Given the description of an element on the screen output the (x, y) to click on. 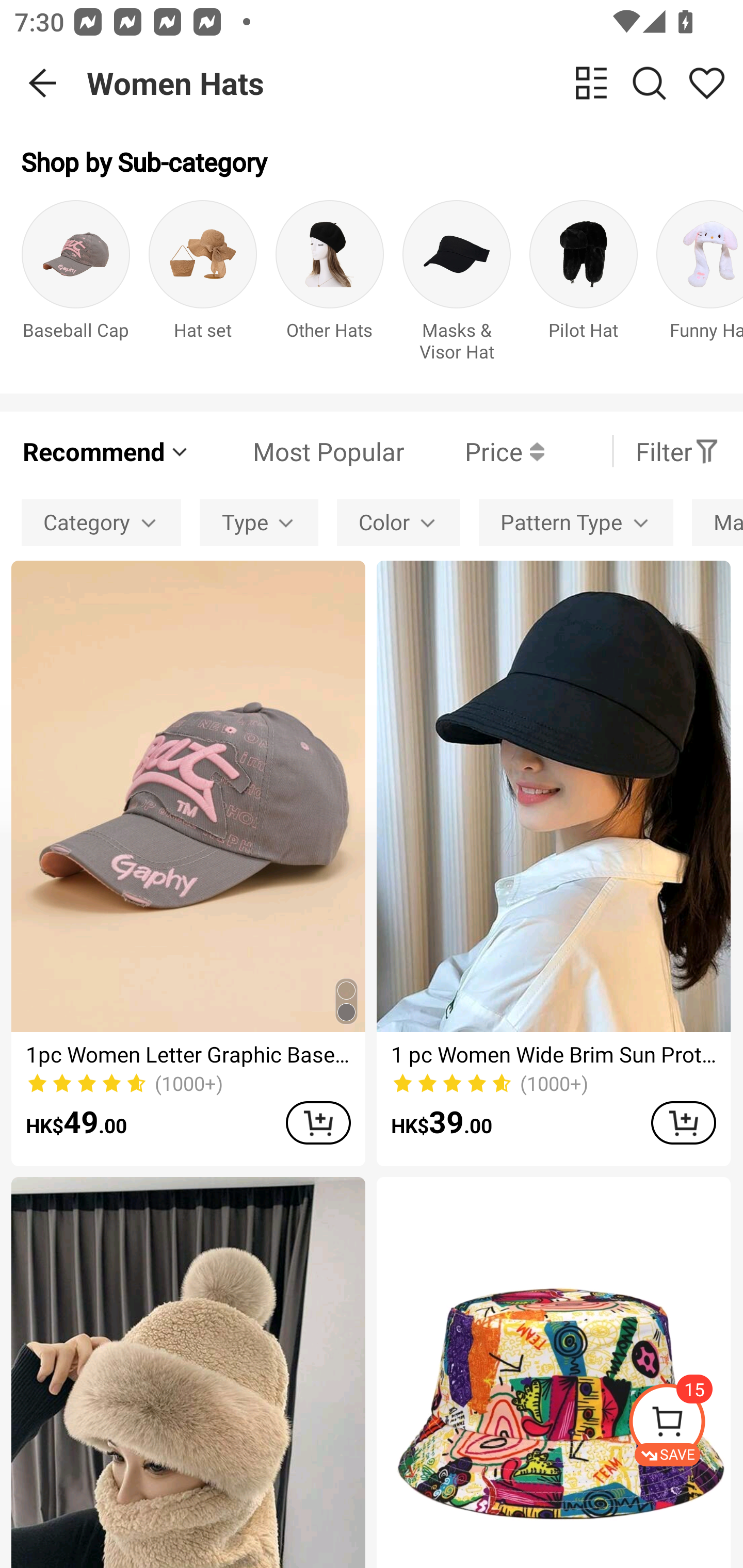
Women Hats change view Search Share (414, 82)
change view (591, 82)
Search (648, 82)
Share (706, 82)
Baseball Cap (75, 285)
Hat set (202, 285)
Other Hats (329, 285)
Masks & Visor Hat (456, 285)
Pilot Hat (583, 285)
Funny Hat (699, 285)
Recommend (106, 450)
Most Popular (297, 450)
Price (474, 450)
Filter (677, 450)
Category (101, 521)
Type (258, 521)
Color (397, 521)
Pattern Type (575, 521)
ADD TO CART (318, 1122)
ADD TO CART (683, 1122)
SAVE (685, 1424)
